Given the description of an element on the screen output the (x, y) to click on. 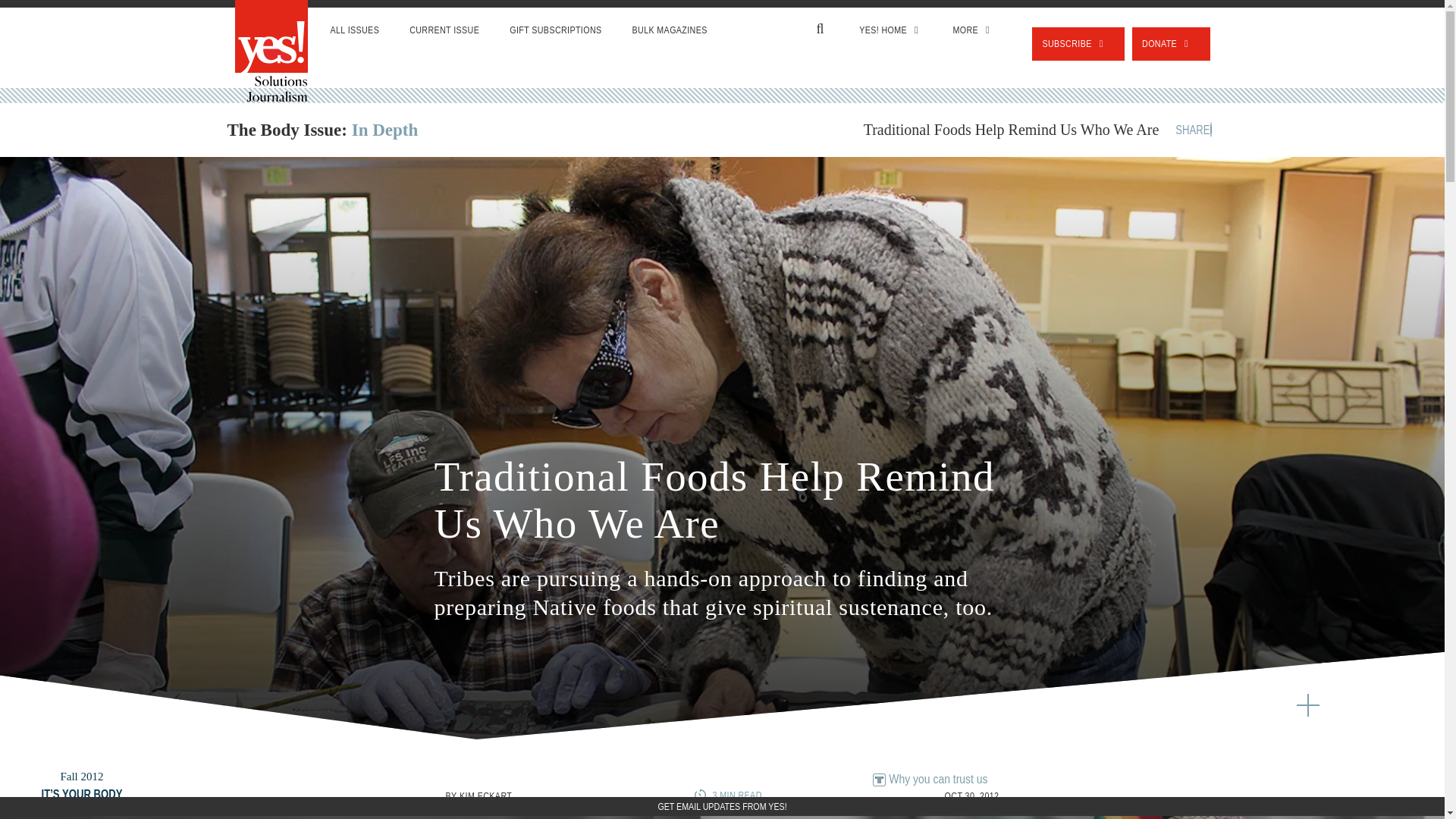
GIFT SUBSCRIPTIONS (555, 30)
BULK MAGAZINES (669, 30)
MORE (973, 30)
CURRENT ISSUE (444, 30)
ALL ISSUES (354, 30)
SUBSCRIBE (1078, 43)
YES! HOME (890, 30)
DONATE (1170, 43)
